Given the description of an element on the screen output the (x, y) to click on. 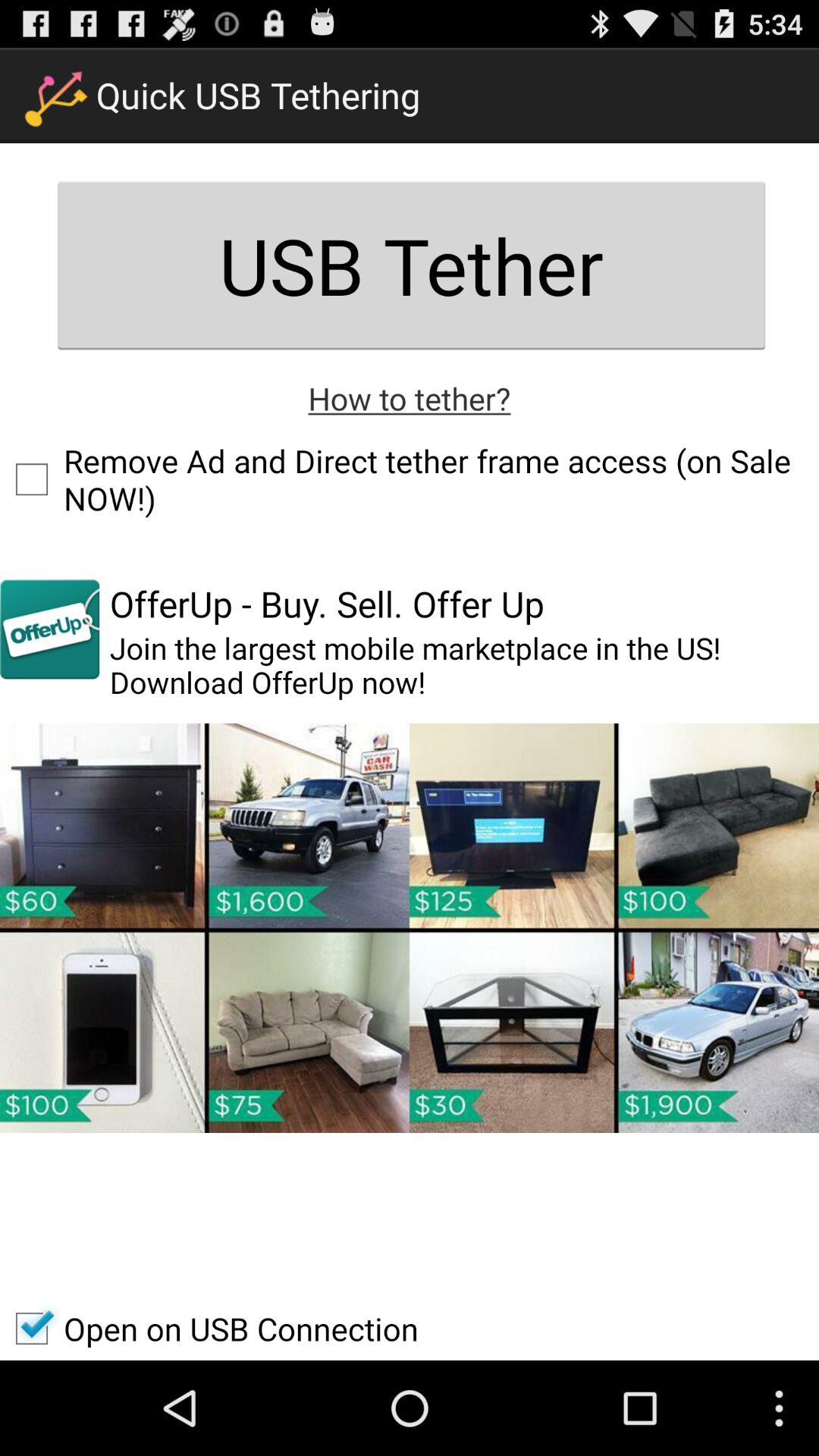
launch app below offerup buy sell item (464, 665)
